Given the description of an element on the screen output the (x, y) to click on. 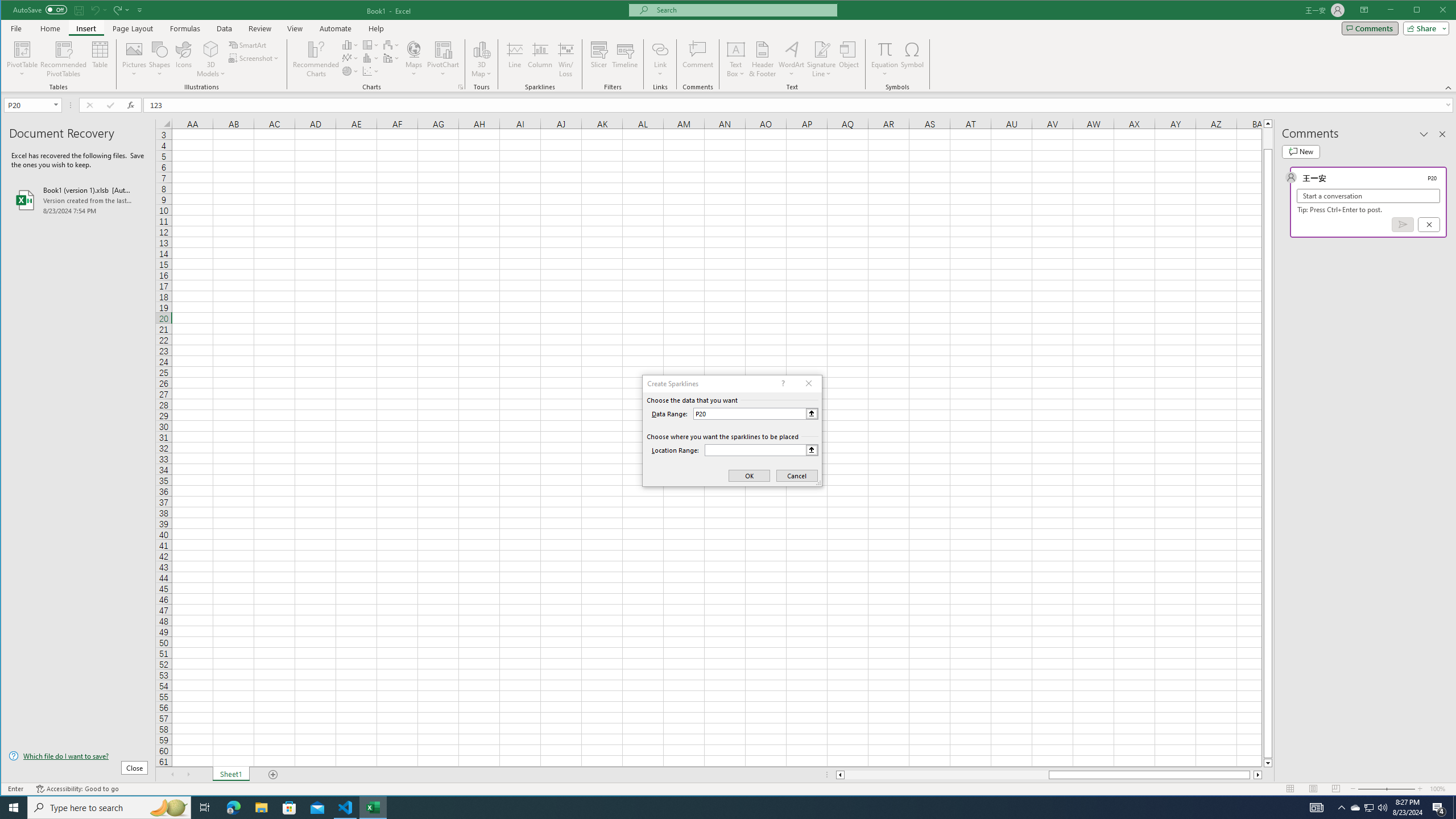
3D Models (211, 48)
Shapes (159, 59)
Insert Statistic Chart (371, 57)
Win/Loss (565, 59)
Page up (1267, 138)
